Given the description of an element on the screen output the (x, y) to click on. 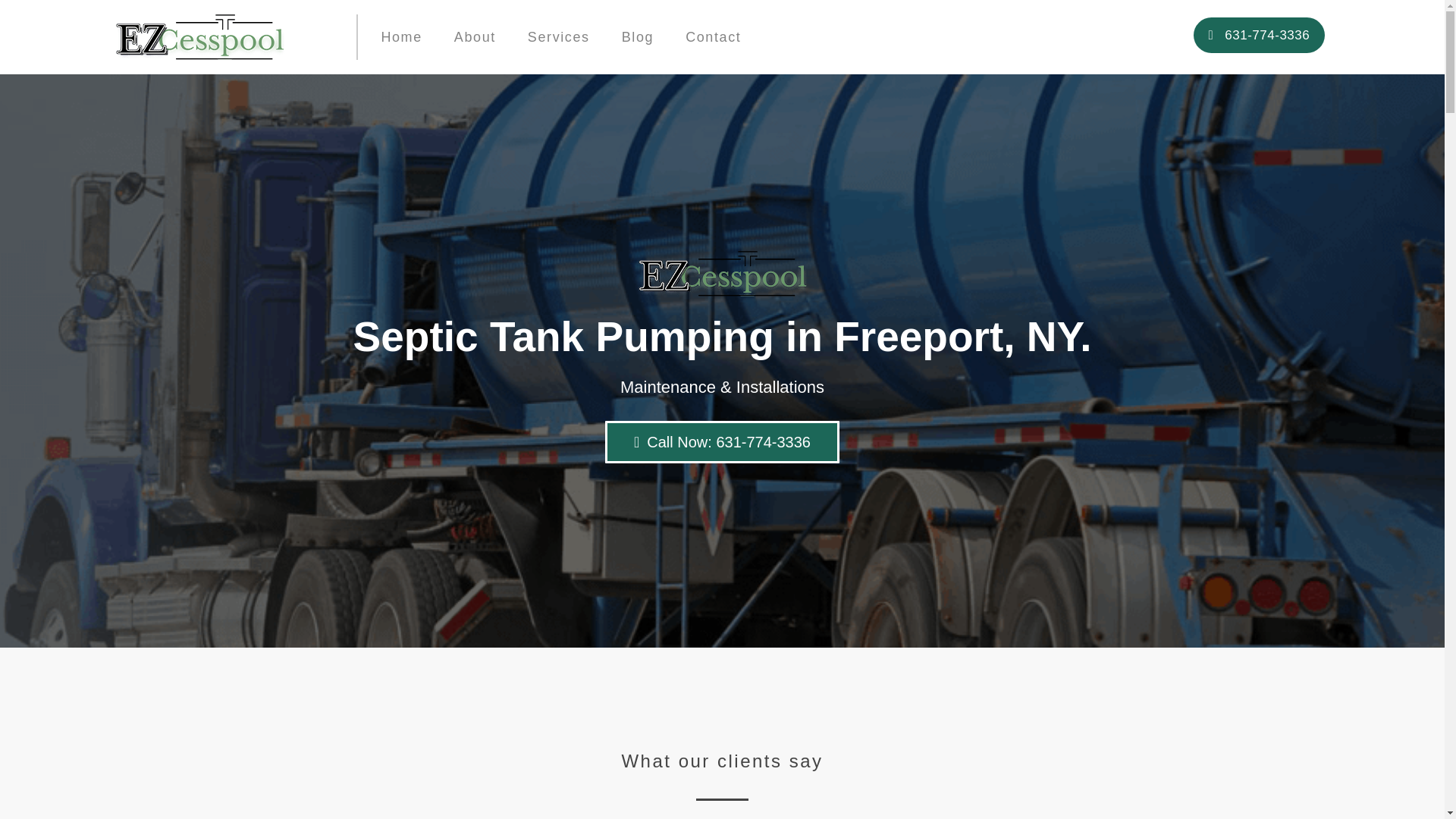
Call Now: 631-774-3336 (722, 441)
Home (400, 36)
Blog (637, 36)
Contact (713, 36)
631-774-3336 (1258, 35)
Services (558, 36)
About (474, 36)
